Given the description of an element on the screen output the (x, y) to click on. 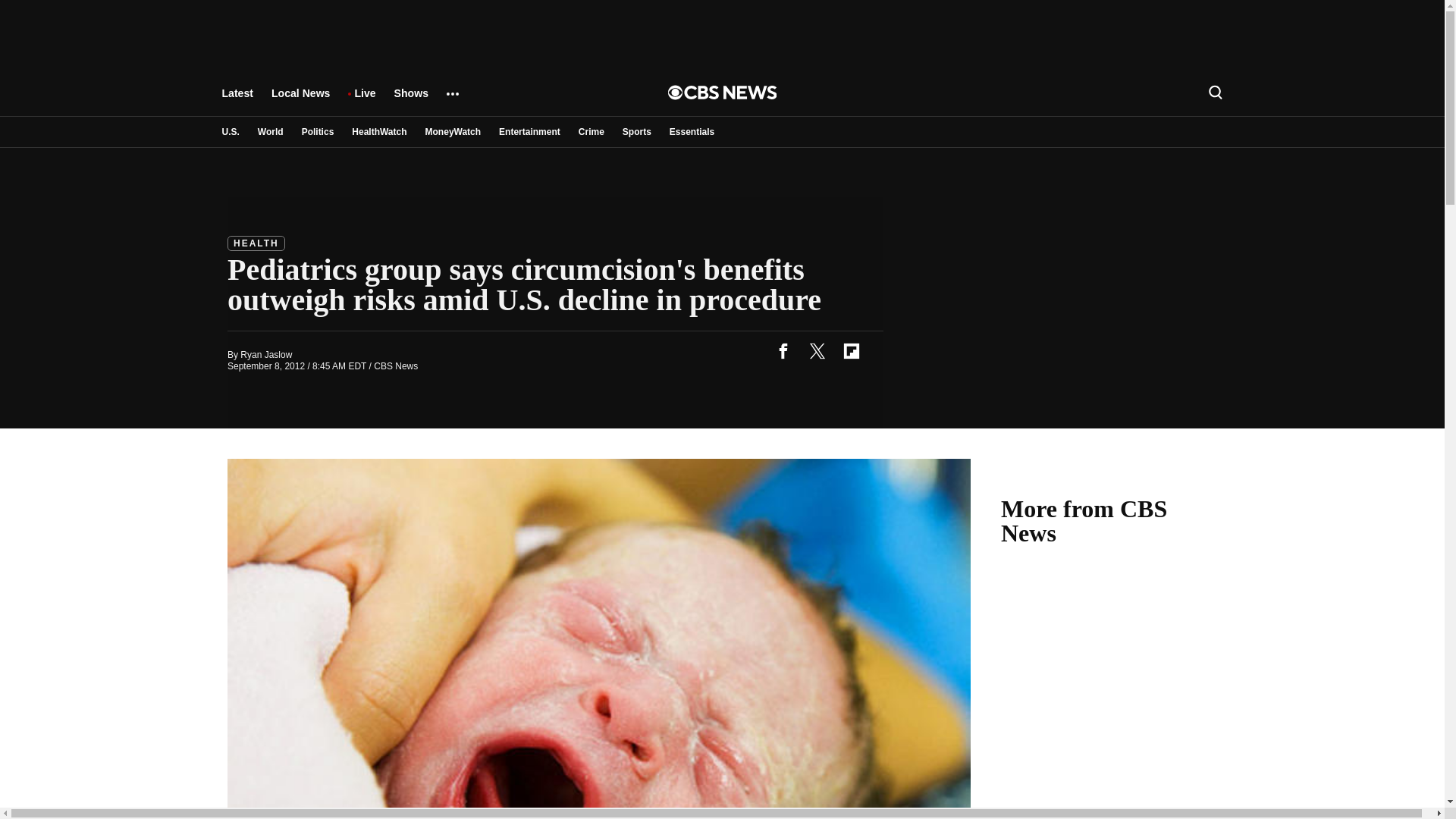
Latest (236, 100)
Local News (300, 100)
twitter (816, 350)
facebook (782, 350)
flipboard (850, 350)
